Given the description of an element on the screen output the (x, y) to click on. 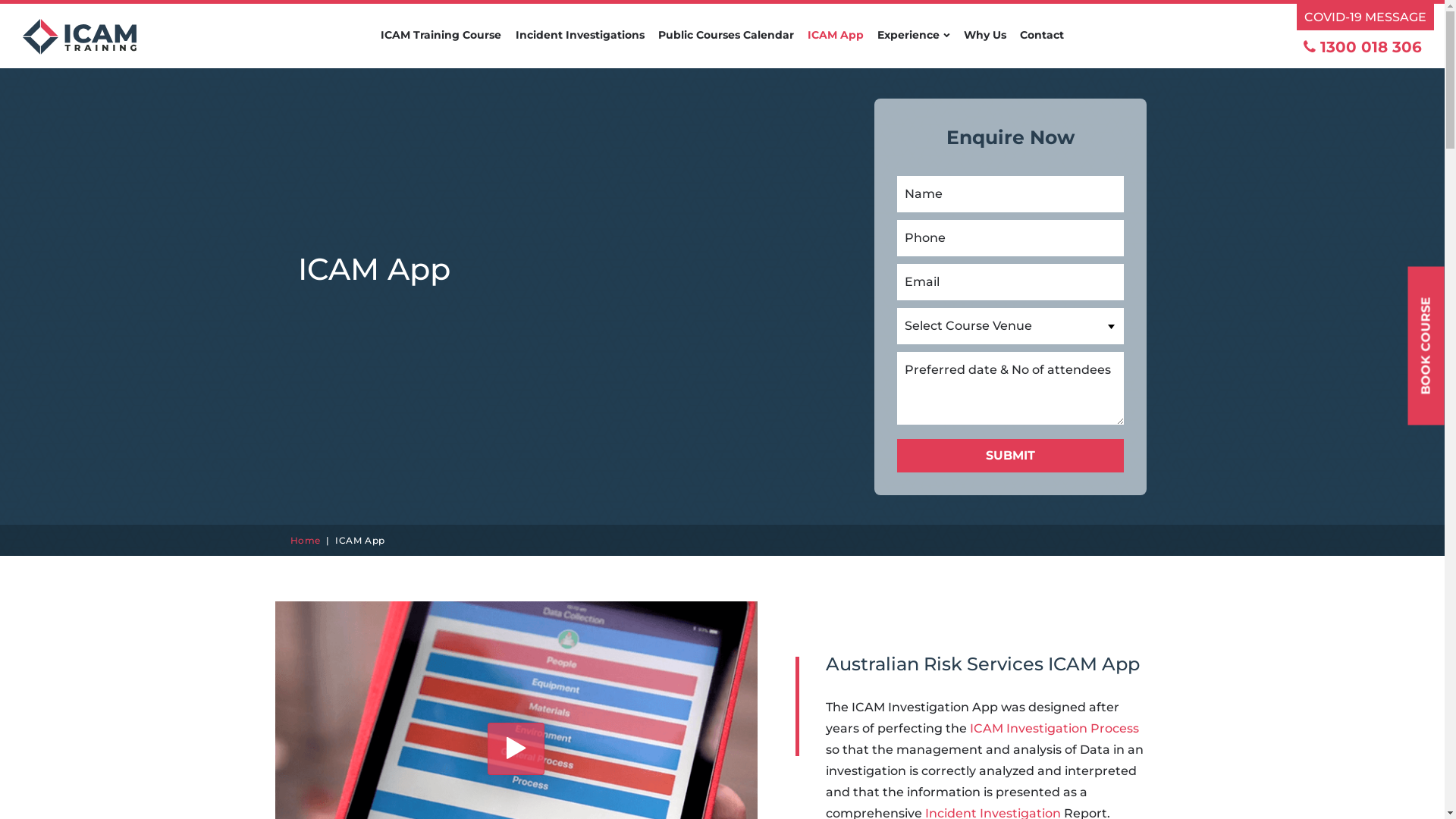
Submit Element type: text (1009, 455)
ICAM App Element type: text (835, 45)
ICAM Training Course Element type: text (440, 45)
COVID-19 MESSAGE Element type: text (1365, 16)
Incident Investigations Element type: text (579, 45)
Home Element type: text (304, 540)
1300 018 306 Element type: text (1362, 46)
Experience Element type: text (913, 45)
Contact Element type: text (1041, 45)
Public Courses Calendar Element type: text (725, 45)
ICAM Investigation Process Element type: text (1054, 728)
Why Us Element type: text (984, 45)
